Given the description of an element on the screen output the (x, y) to click on. 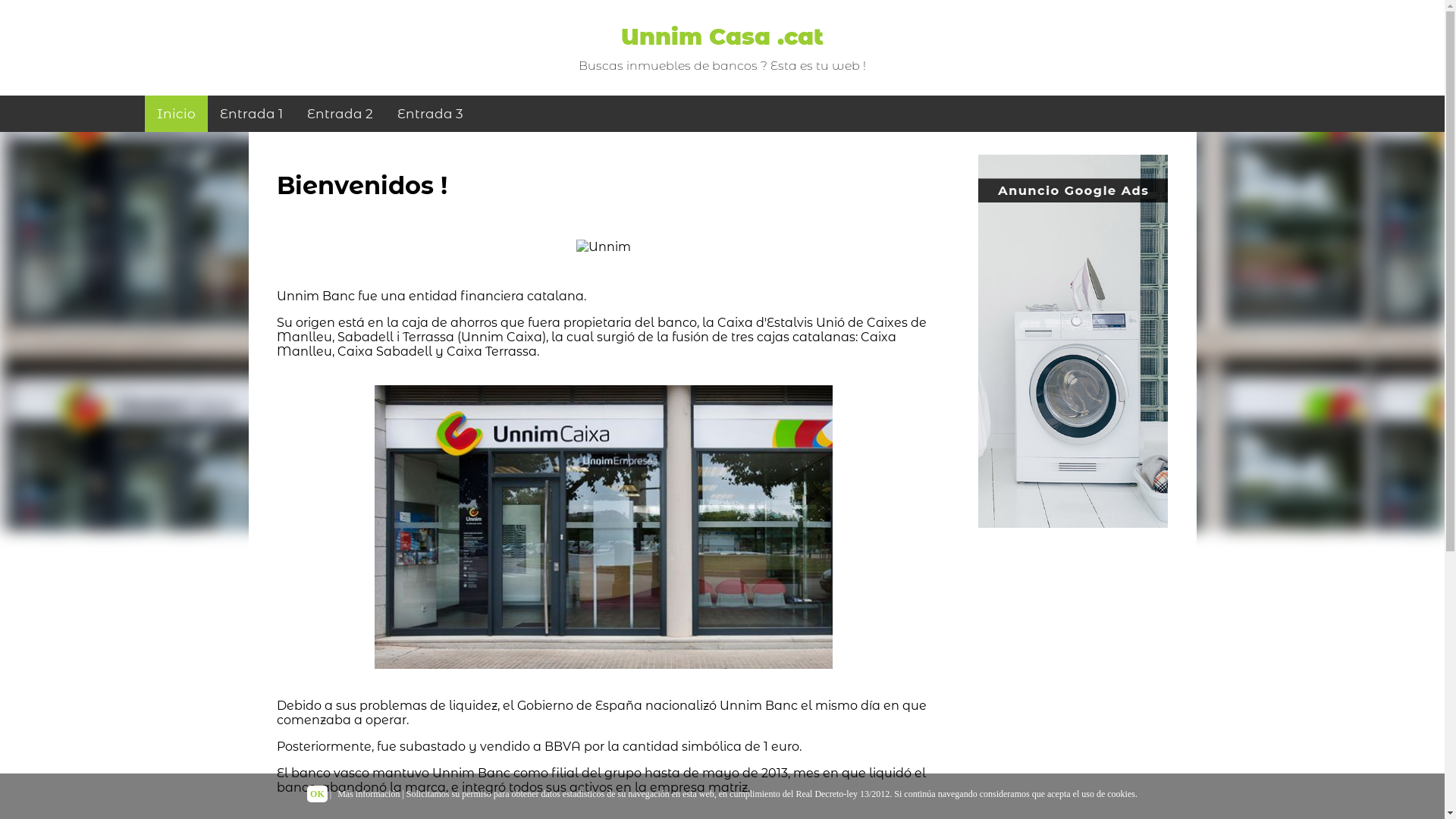
Unnim Casa .cat Element type: text (722, 36)
Entrada 3 Element type: text (430, 113)
OK Element type: text (317, 793)
Entrada 1 Element type: text (250, 113)
Inicio Element type: text (175, 113)
Entrada 2 Element type: text (339, 113)
